Given the description of an element on the screen output the (x, y) to click on. 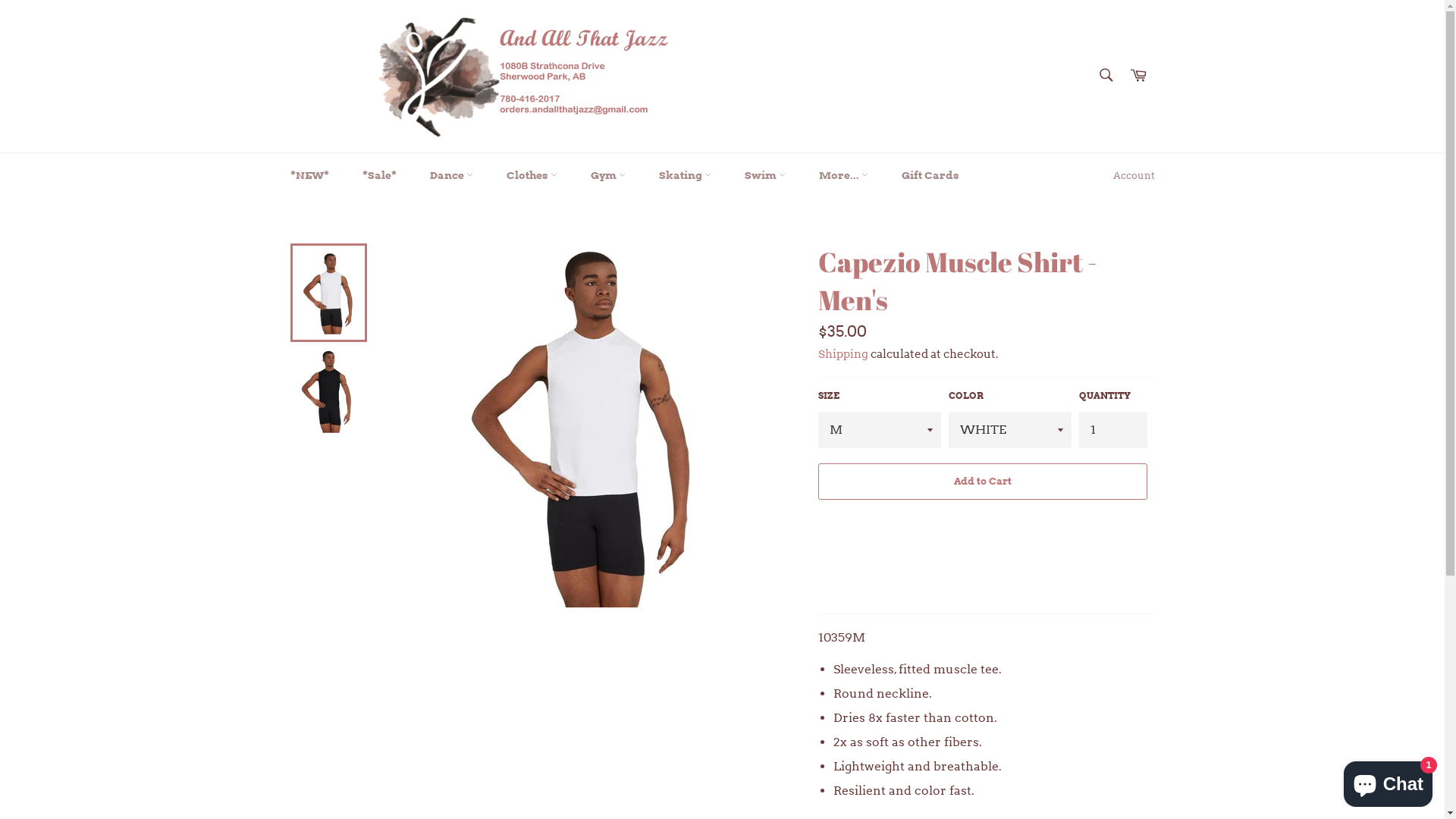
Clothes Element type: text (531, 175)
Cart Element type: text (1138, 76)
Skating Element type: text (684, 175)
Search Element type: text (1105, 75)
Account Element type: text (1133, 175)
Add to Cart Element type: text (981, 481)
*NEW* Element type: text (308, 175)
Gym Element type: text (607, 175)
Gift Cards Element type: text (929, 175)
Swim Element type: text (764, 175)
Shopify online store chat Element type: hover (1388, 780)
*Sale* Element type: text (379, 175)
Shipping Element type: text (842, 353)
More... Element type: text (843, 175)
Dance Element type: text (450, 175)
